Given the description of an element on the screen output the (x, y) to click on. 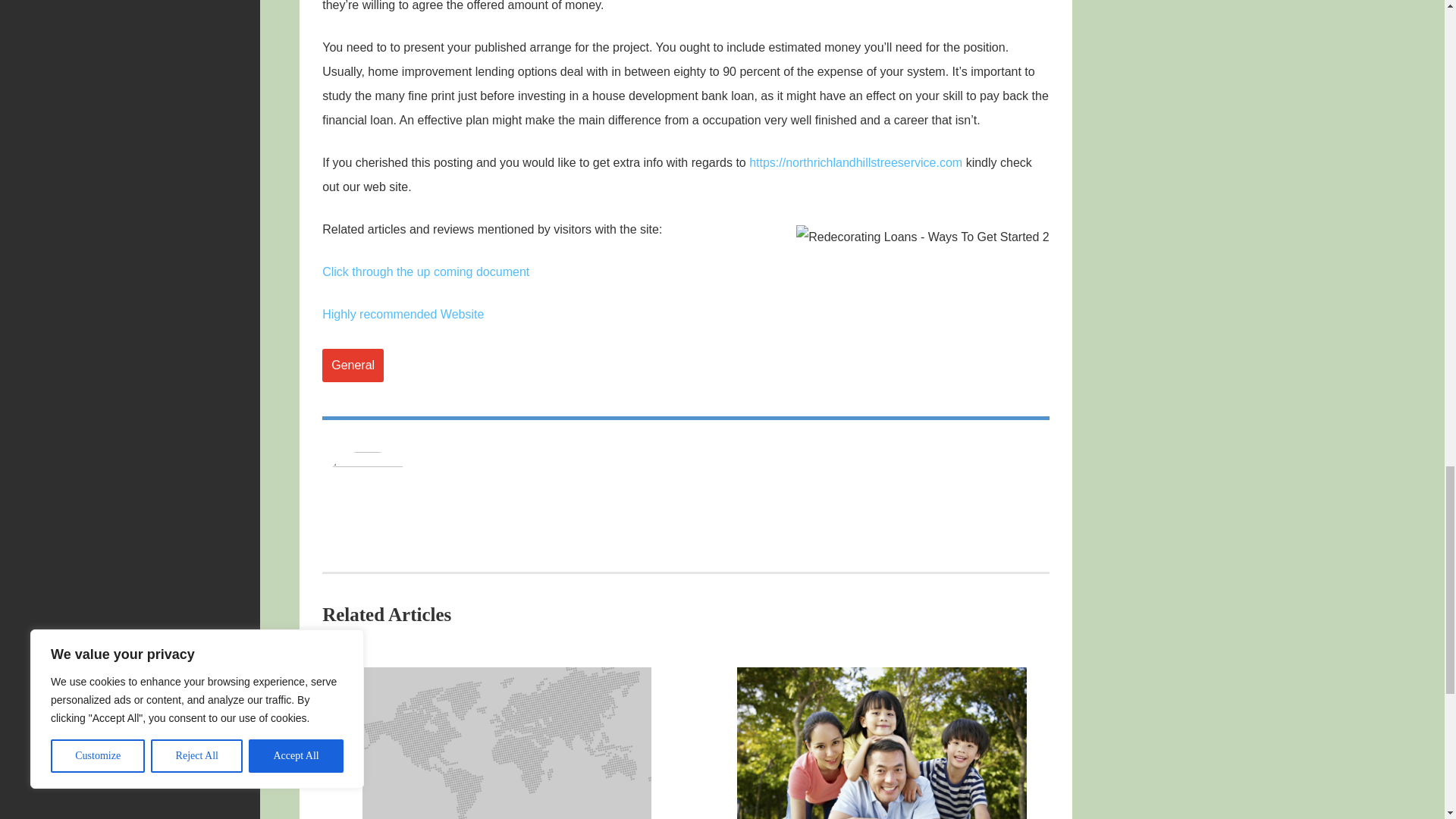
Highly recommended Website (402, 314)
Click through the up coming document (425, 271)
General (352, 365)
